Given the description of an element on the screen output the (x, y) to click on. 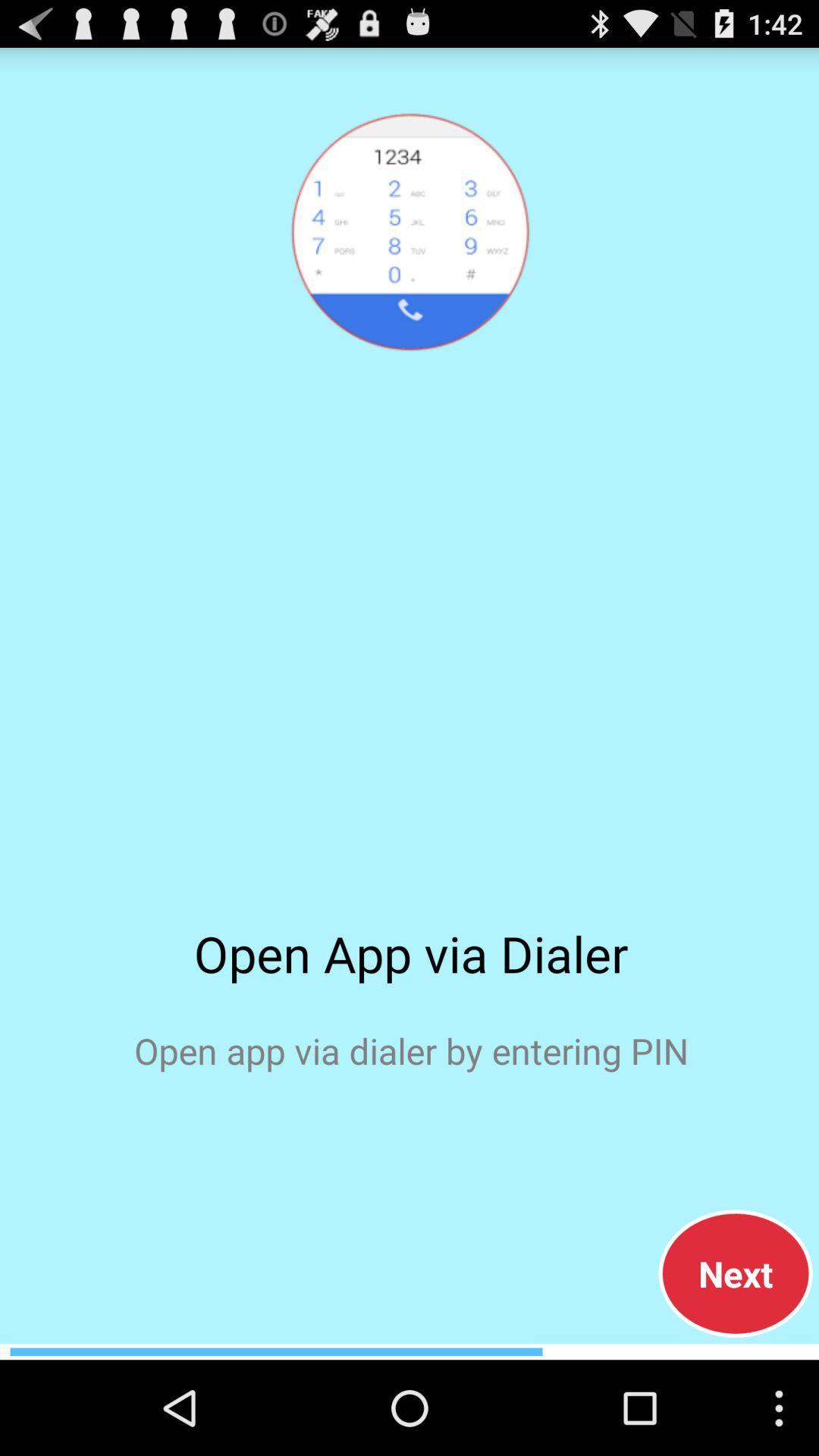
select the next button (735, 1273)
